Given the description of an element on the screen output the (x, y) to click on. 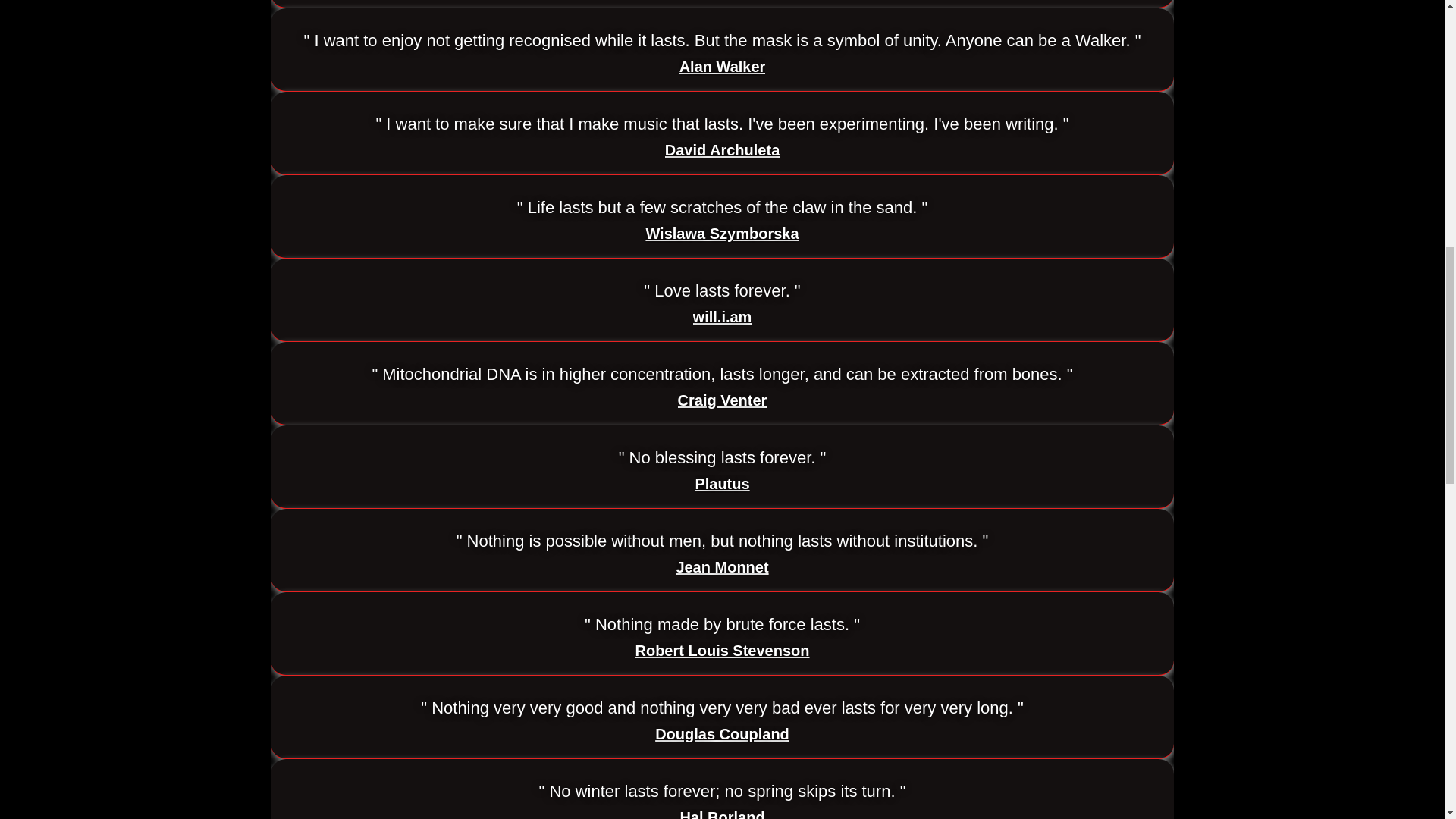
" Life lasts but a few scratches of the claw in the sand. " (721, 207)
Craig Venter (722, 400)
Robert Louis Stevenson (721, 651)
Alan Walker (722, 67)
Douglas Coupland (722, 733)
Jean Monnet (721, 567)
" Nothing made by brute force lasts. " (722, 624)
" No blessing lasts forever. " (722, 457)
